Given the description of an element on the screen output the (x, y) to click on. 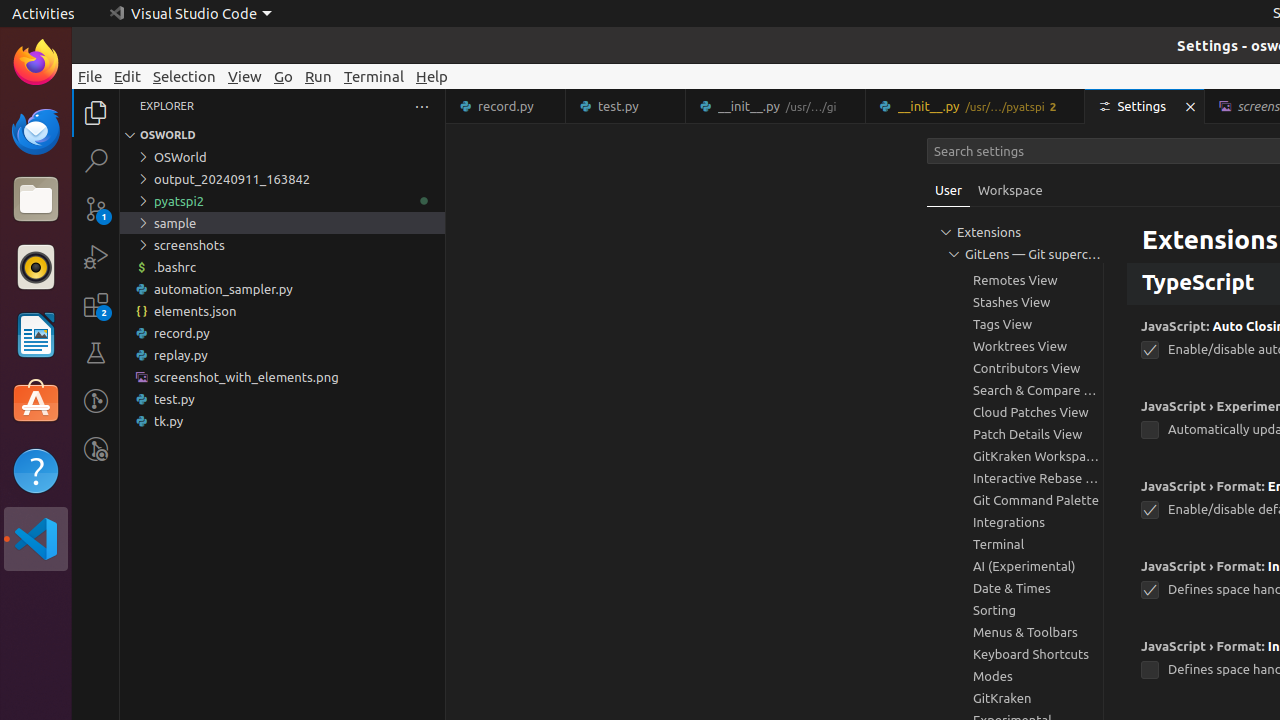
GitLens Inspect Element type: page-tab (96, 449)
View Element type: push-button (245, 76)
Sorting, group Element type: tree-item (1015, 610)
Modes, group Element type: tree-item (1015, 676)
